Given the description of an element on the screen output the (x, y) to click on. 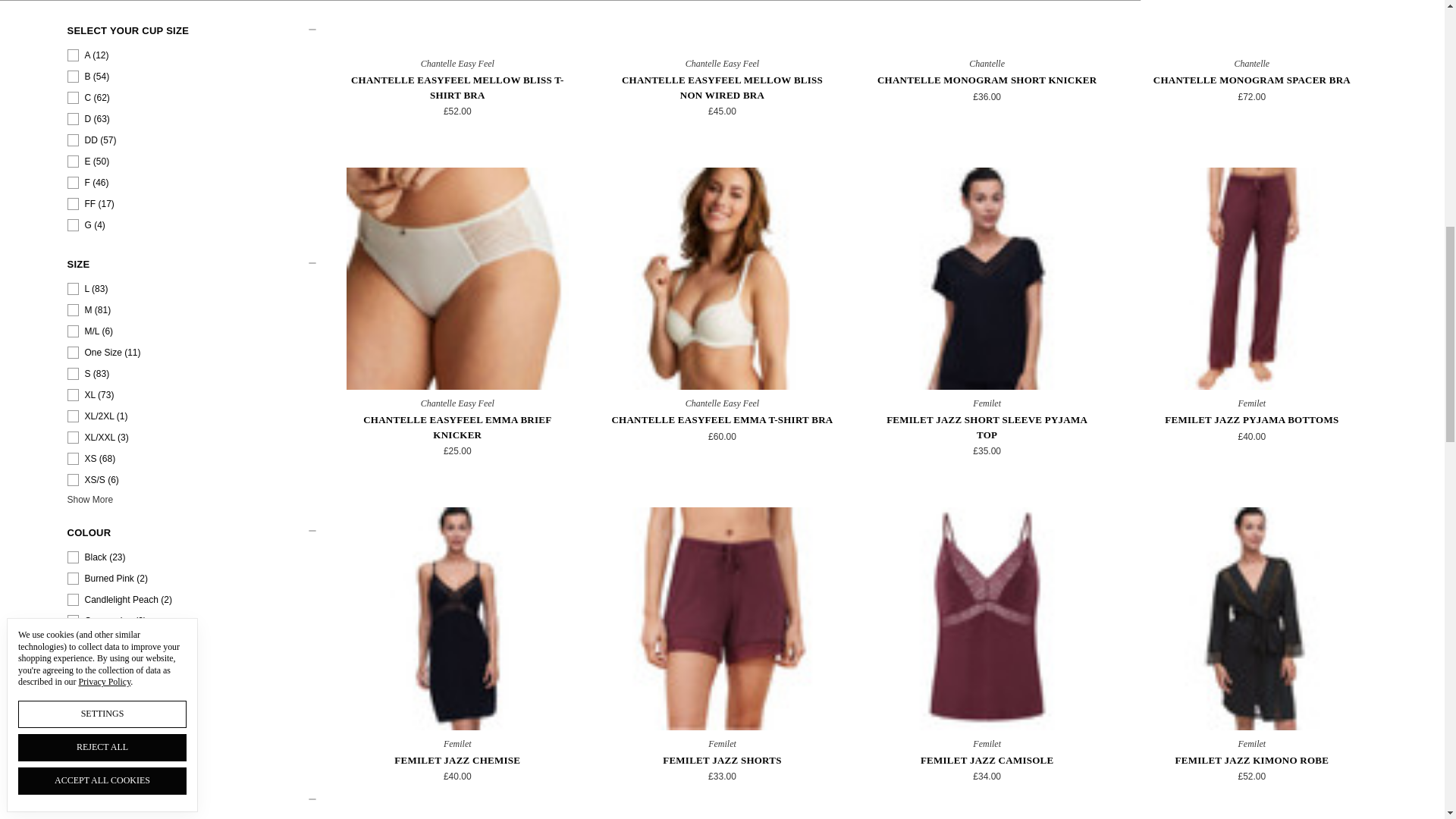
Femilet Jazz Shorts - Port (721, 617)
Chantelle EasyFeel Brief Knicker - Milk (457, 278)
Femilet Jazz Chemise - Black (457, 617)
Chantelle EasyFeel Mellow Bliss Non Wired Bra - White (721, 24)
Chantelle Monogram Spacer Bra White (1251, 24)
Black Femilet Jazz Short Sleeve Pyjama Top (986, 278)
Chantelle EasyFeel Emma T-Shirt Bra - Milk (721, 278)
Femilet Jazz Camisole - Port (986, 617)
Chantelle EasyFeel Mellow Bliss T-Shirt Bra - White (457, 24)
Femilet Jazz Pyjama Bottoms in port (1251, 278)
